Given the description of an element on the screen output the (x, y) to click on. 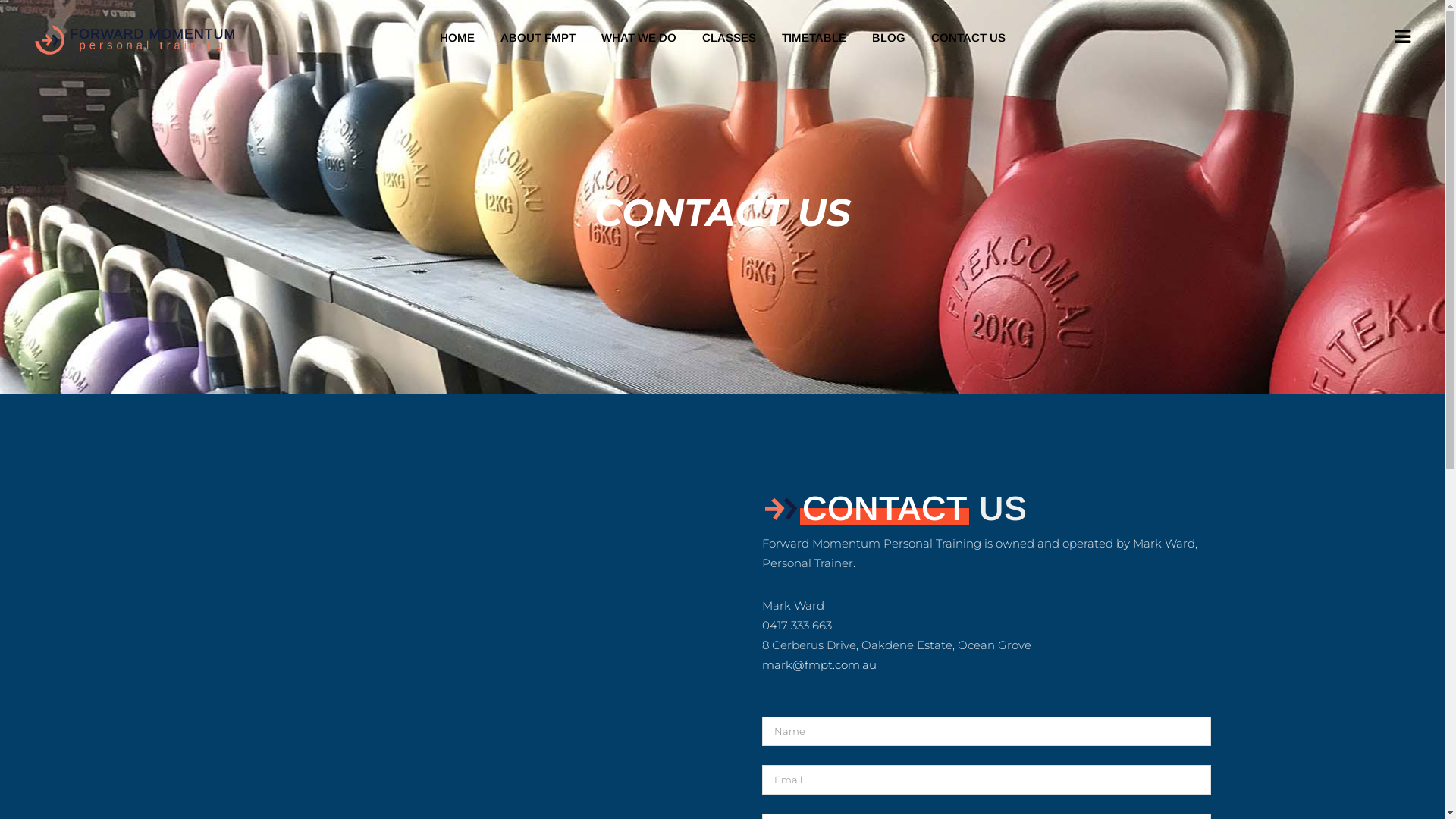
TIMETABLE Element type: text (813, 37)
ABOUT FMPT Element type: text (536, 37)
CONTACT US Element type: text (967, 37)
CLASSES Element type: text (728, 37)
HOME Element type: text (456, 37)
mark@fmpt.com.au Element type: text (818, 664)
BLOG Element type: text (887, 37)
WHAT WE DO Element type: text (638, 37)
